Given the description of an element on the screen output the (x, y) to click on. 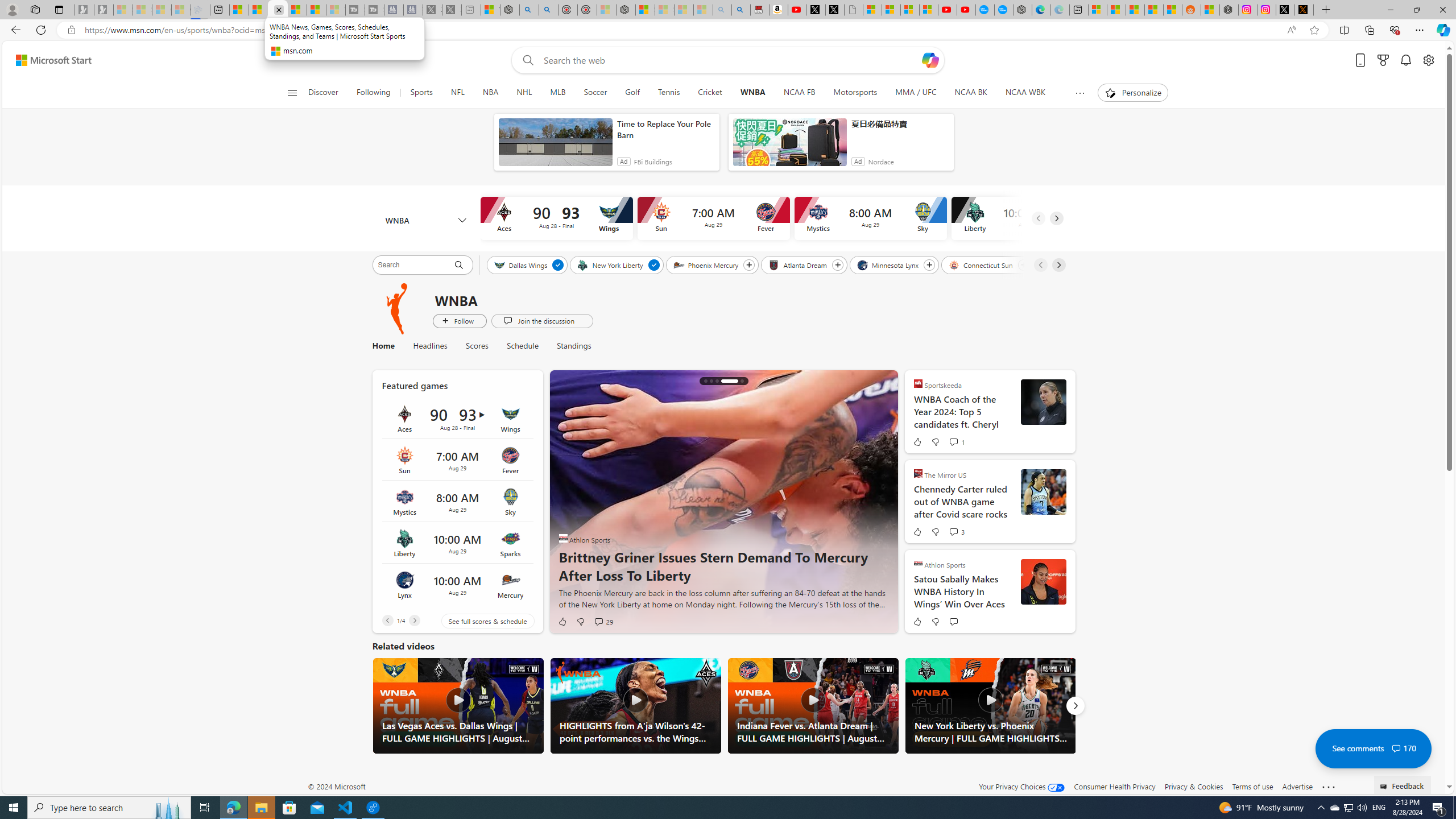
Previous (387, 620)
Skip to footer (46, 59)
poe - Search (529, 9)
MLB (557, 92)
MMA / UFC (916, 92)
Dislike (935, 621)
Standings (573, 345)
Open settings (1427, 60)
Shanghai, China hourly forecast | Microsoft Weather (1134, 9)
The Mirror US (917, 473)
Personalize (1132, 92)
Home (382, 345)
usatsi_21497924 (1042, 581)
